Given the description of an element on the screen output the (x, y) to click on. 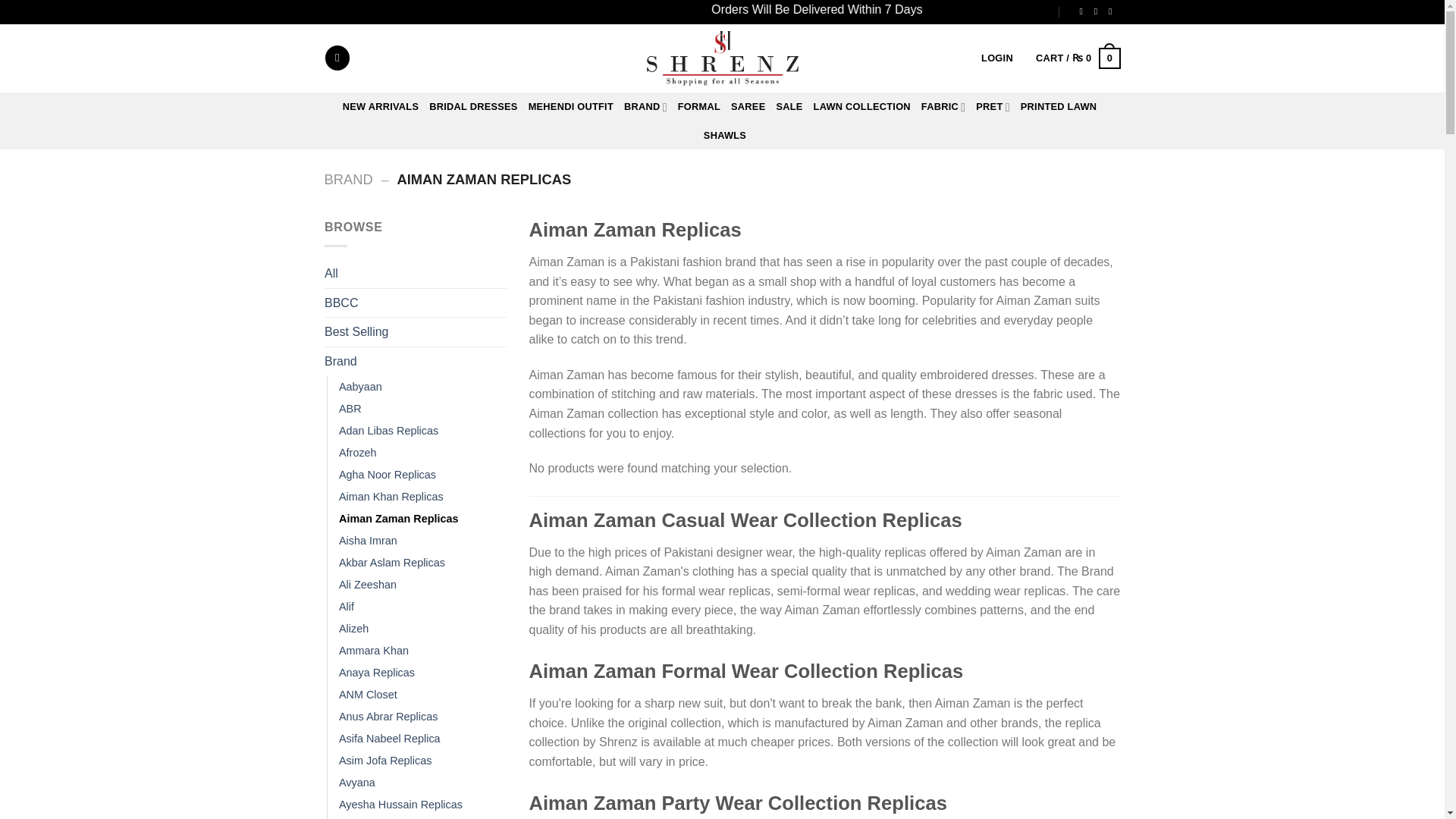
NEW ARRIVALS (380, 106)
Cart (1078, 57)
MEHENDI OUTFIT (570, 106)
BRAND (645, 107)
LOGIN (997, 58)
SHRENZ - Shopping for all seasons. (721, 58)
BRIDAL DRESSES (472, 106)
